Given the description of an element on the screen output the (x, y) to click on. 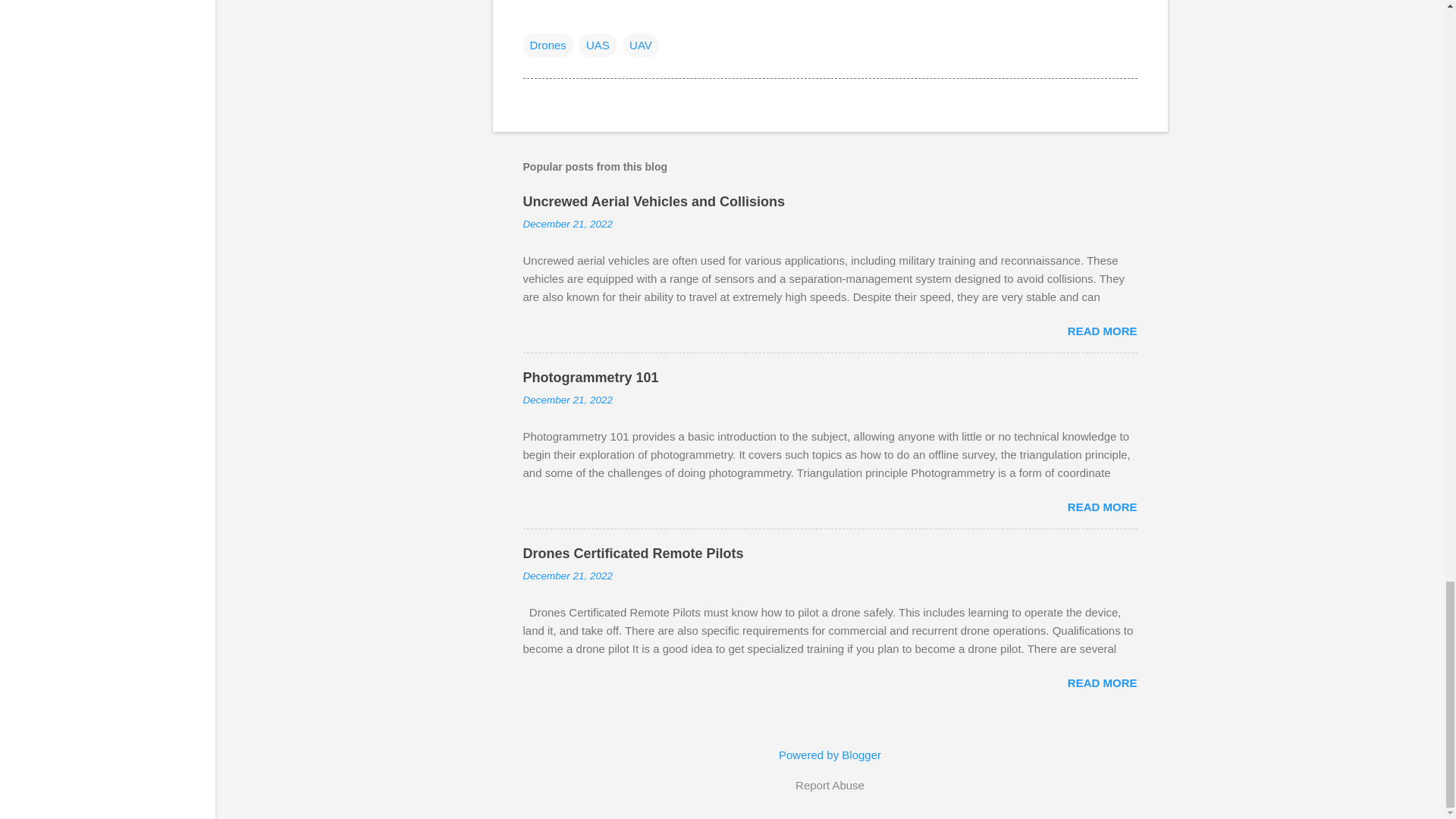
Drones Certificated Remote Pilots (633, 553)
Powered by Blogger (829, 754)
UAS (597, 45)
Uncrewed Aerial Vehicles and Collisions (653, 201)
December 21, 2022 (567, 224)
READ MORE (1102, 330)
permanent link (567, 224)
Photogrammetry 101 (590, 377)
Drones (547, 45)
READ MORE (1102, 506)
